Given the description of an element on the screen output the (x, y) to click on. 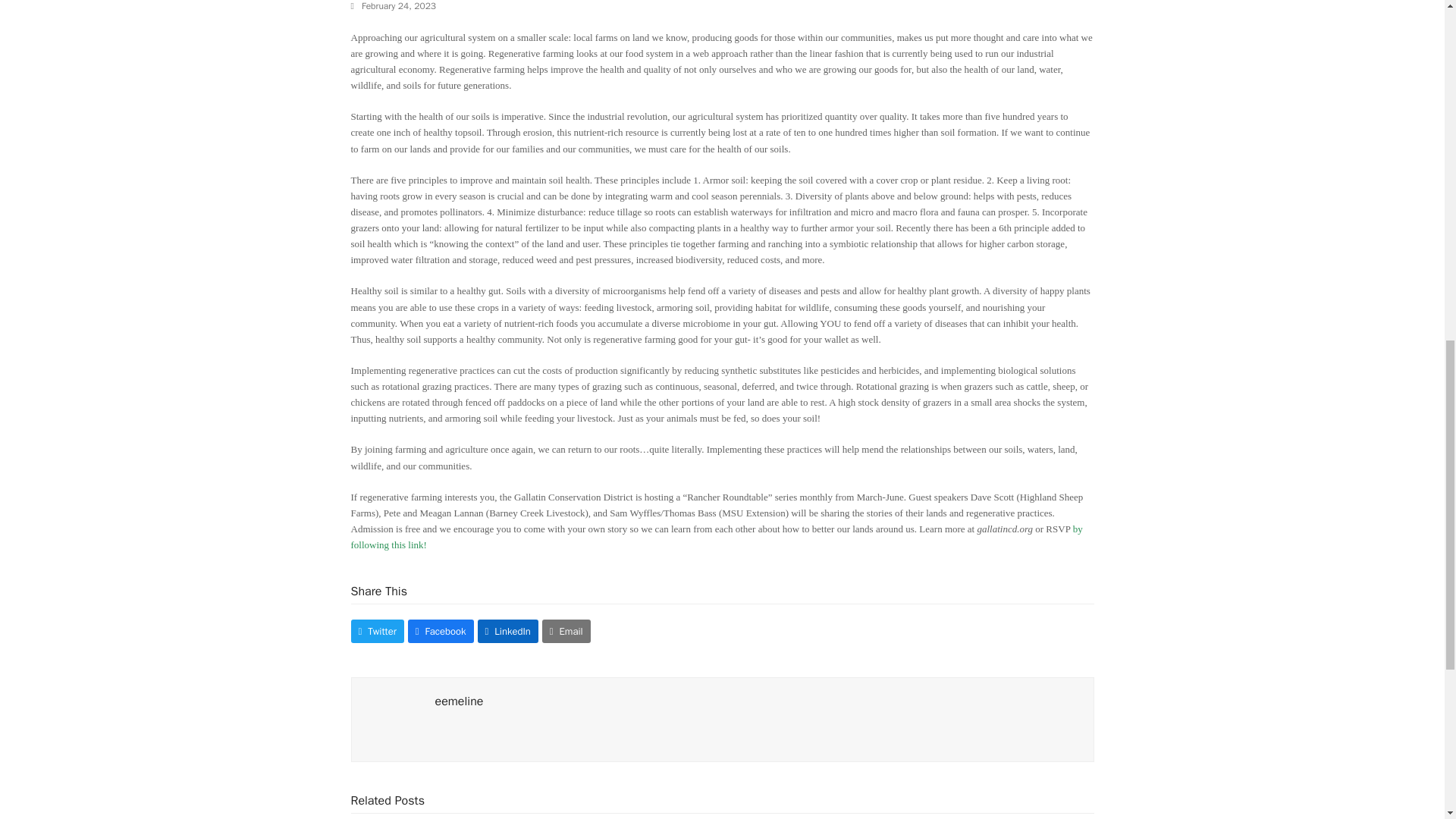
Visit Author Page (459, 701)
Visit Author Page (393, 718)
